Given the description of an element on the screen output the (x, y) to click on. 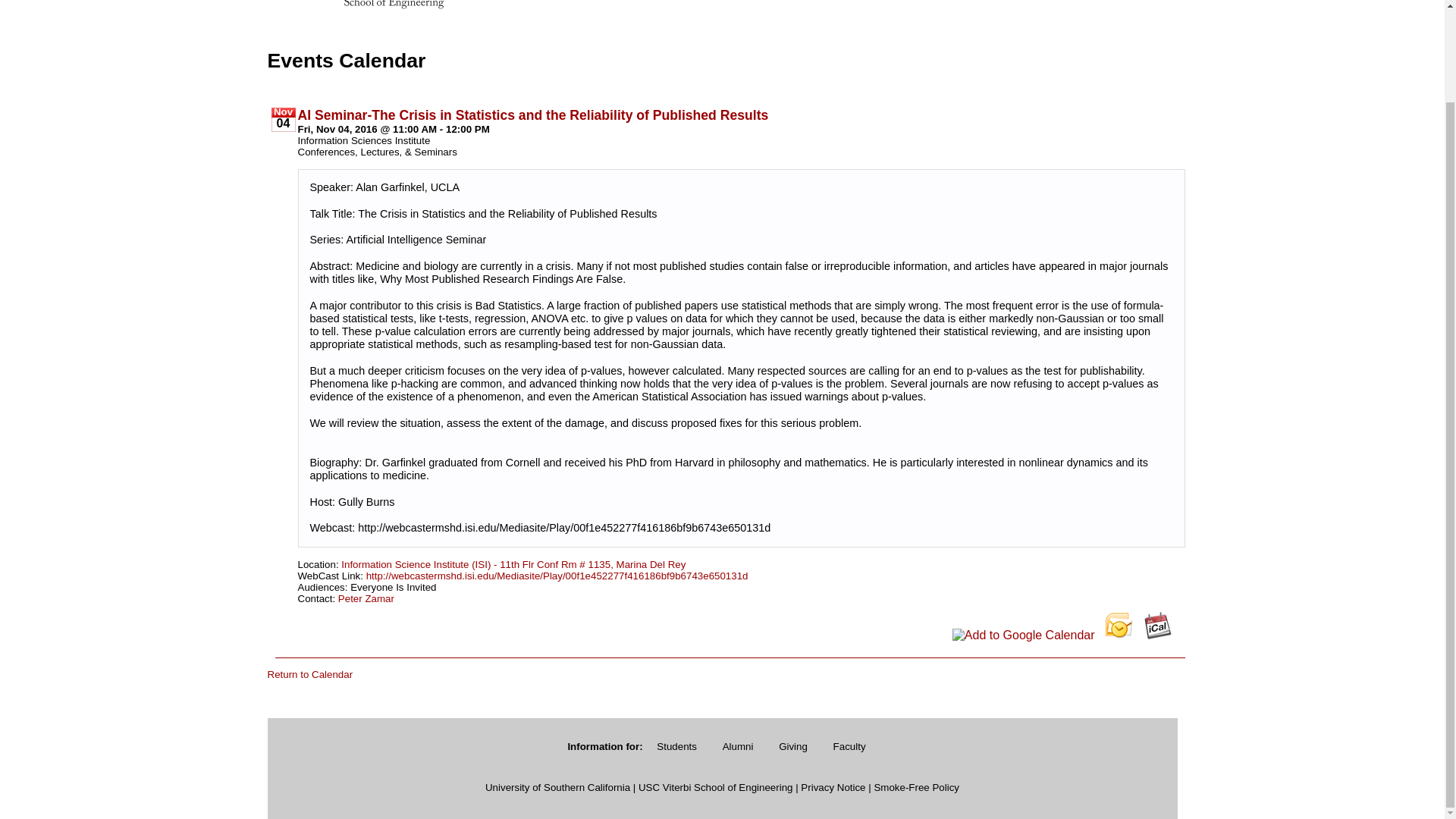
04 (282, 123)
Alumni (738, 746)
USC Viterbi School of Engineering (716, 787)
Smoke-Free Policy (916, 787)
Privacy Notice (832, 787)
Nov (282, 111)
Send Email to Peter  Zamar (365, 597)
Viterbi School of Engineering (357, 6)
Peter Zamar (365, 597)
Giving (792, 746)
Return to Calendar (309, 674)
Students (676, 746)
Faculty (849, 746)
University of Southern California (557, 787)
